Given the description of an element on the screen output the (x, y) to click on. 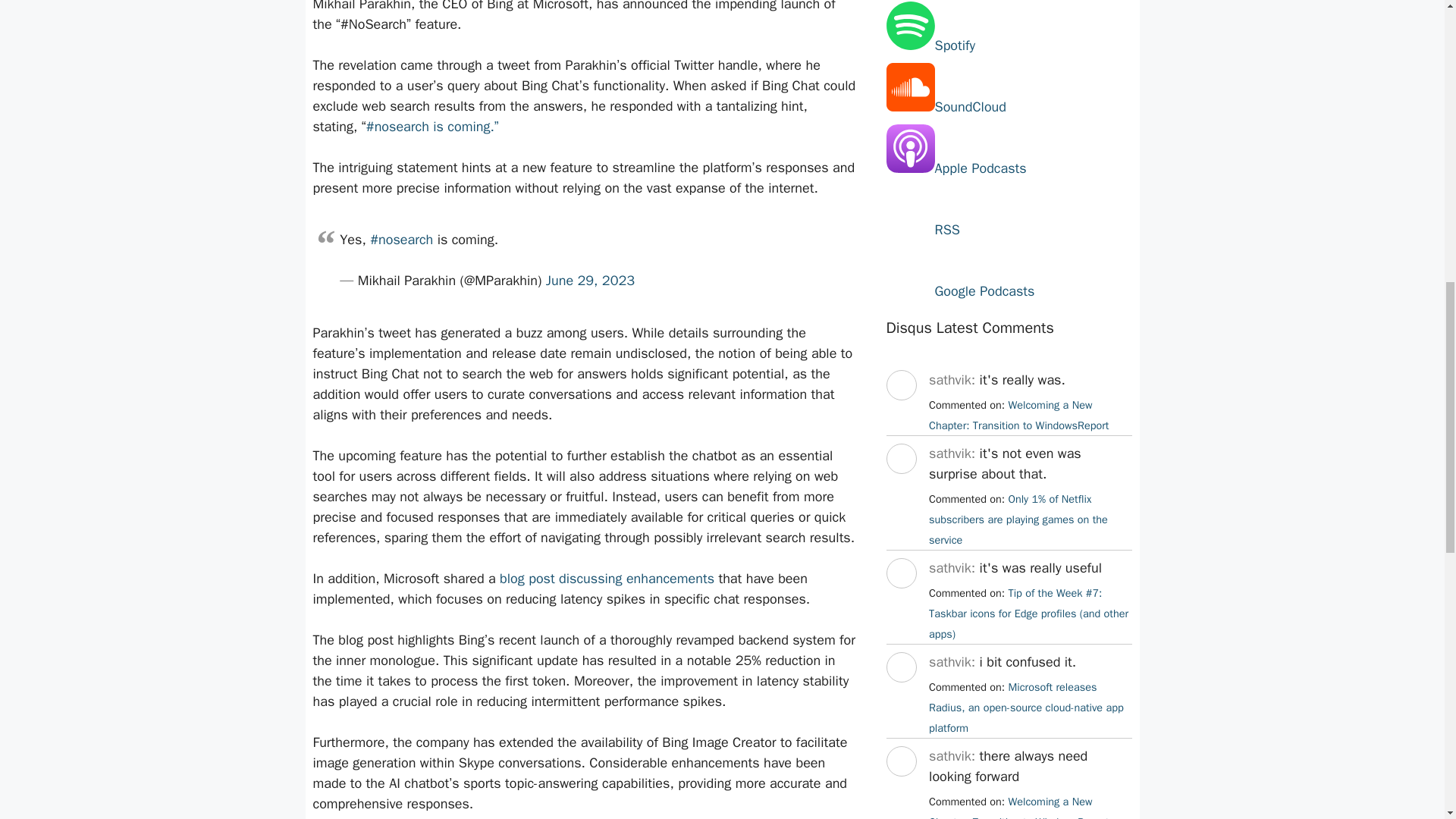
sathvik (900, 790)
July 8, 2024 (1028, 613)
sathvik (900, 601)
sathvik (900, 413)
July 11, 2024 (1018, 519)
May 20, 2024 (1018, 806)
sathvik (900, 487)
June 15, 2024 (1026, 707)
July 24, 2024 (1018, 415)
sathvik (900, 695)
